Given the description of an element on the screen output the (x, y) to click on. 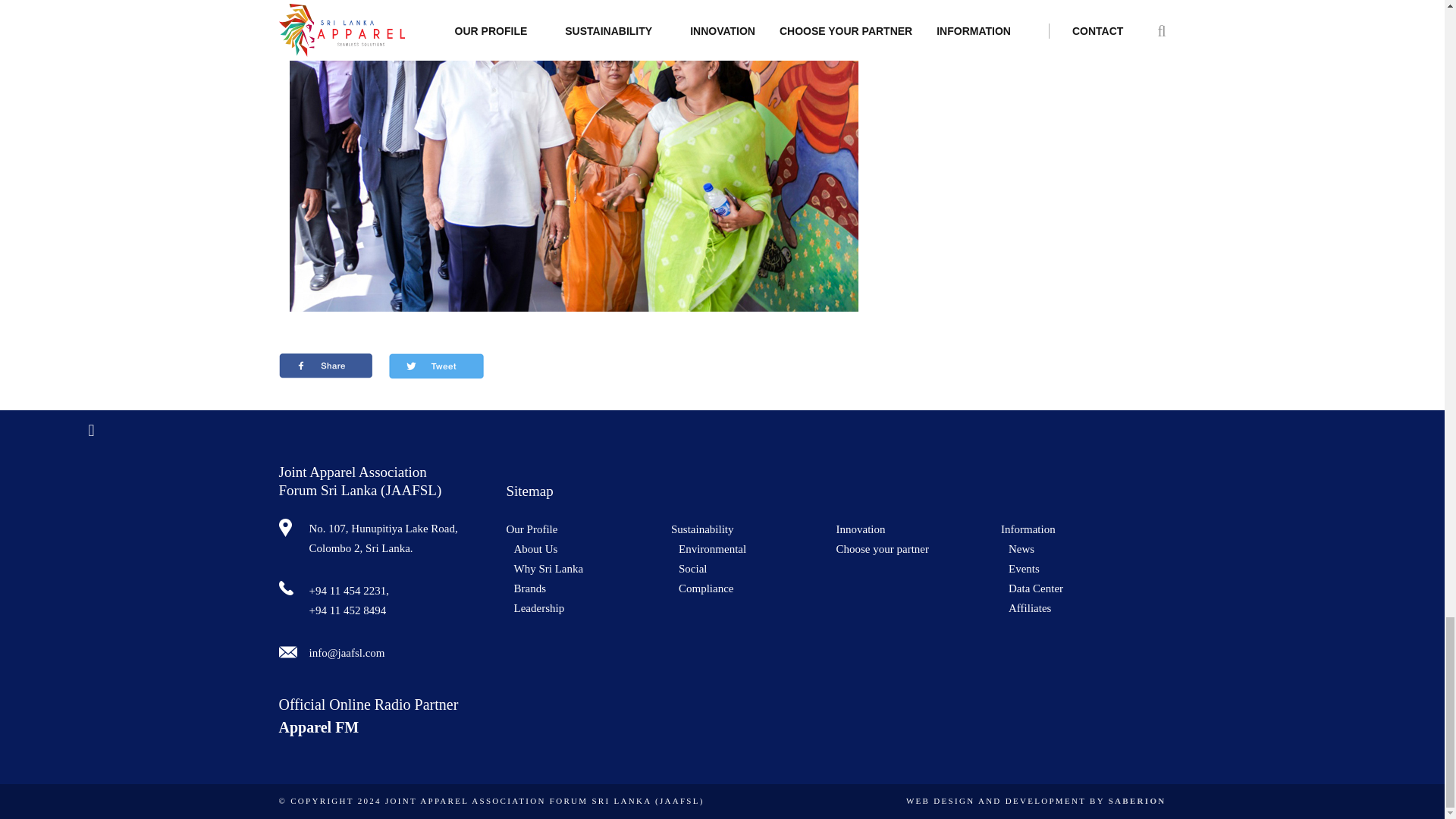
Why Sri Lanka (592, 568)
Innovation (918, 528)
About Us (592, 548)
Our Profile (588, 528)
Apparel FM (319, 727)
Social (756, 568)
Brands (592, 588)
Choose your partner (918, 548)
Environmental (756, 548)
Leadership (592, 608)
